Given the description of an element on the screen output the (x, y) to click on. 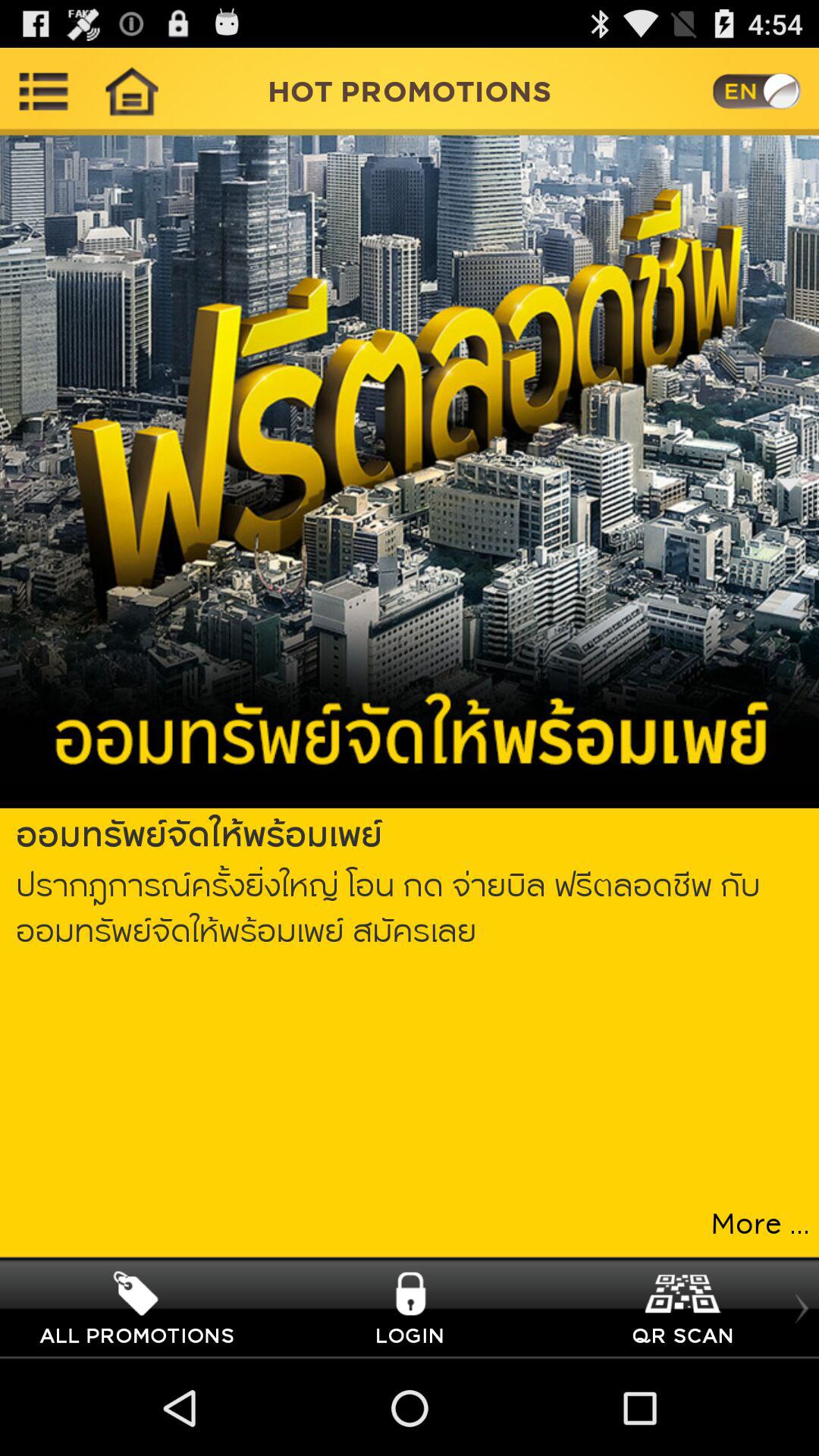
menu button (43, 91)
